Given the description of an element on the screen output the (x, y) to click on. 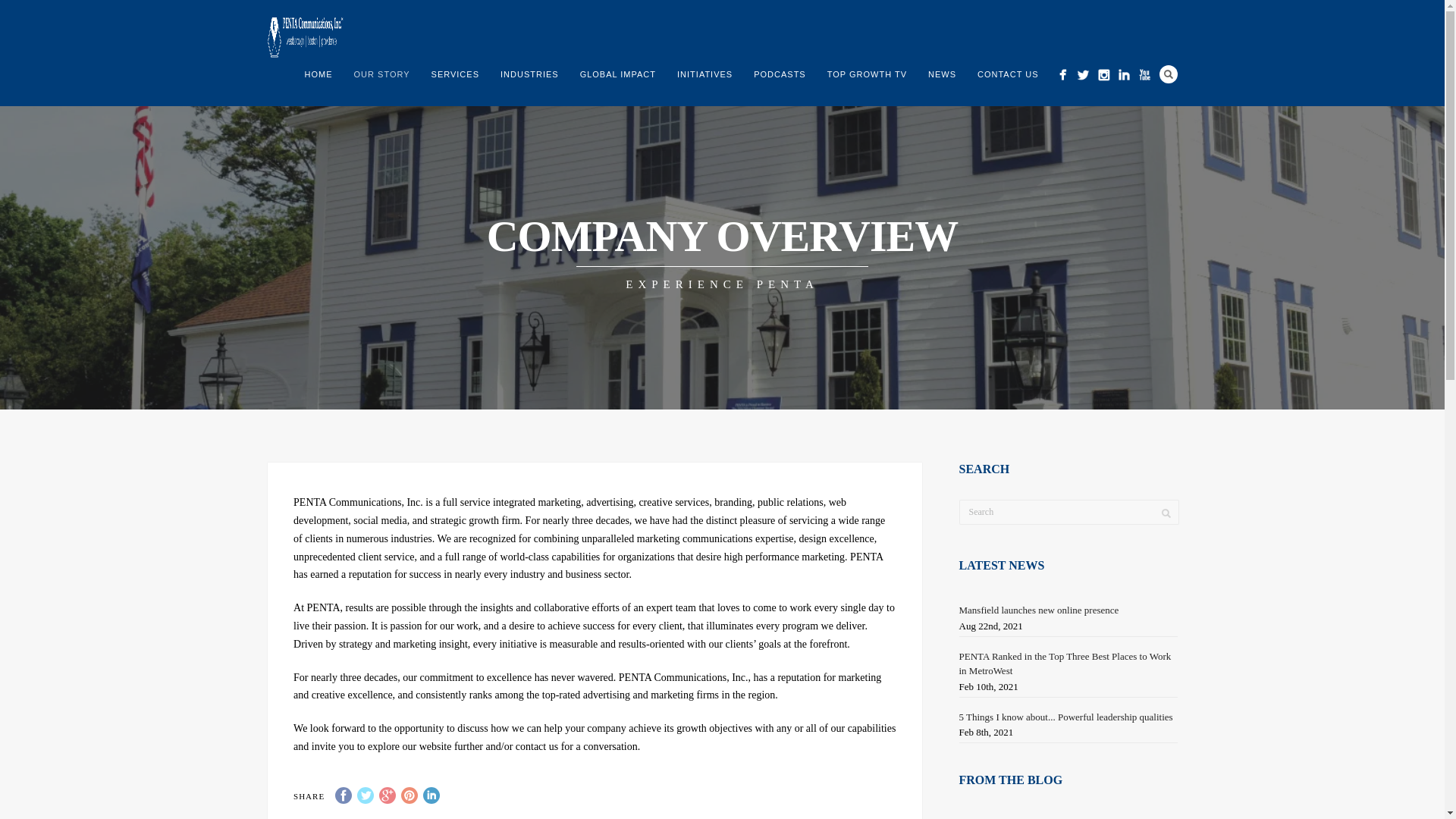
INDUSTRIES (529, 74)
OUR STORY (381, 74)
Twitter (365, 795)
SERVICES (454, 74)
HOME (318, 74)
Facebook (343, 795)
LinkedIn (431, 795)
Pinterest (409, 795)
